Given the description of an element on the screen output the (x, y) to click on. 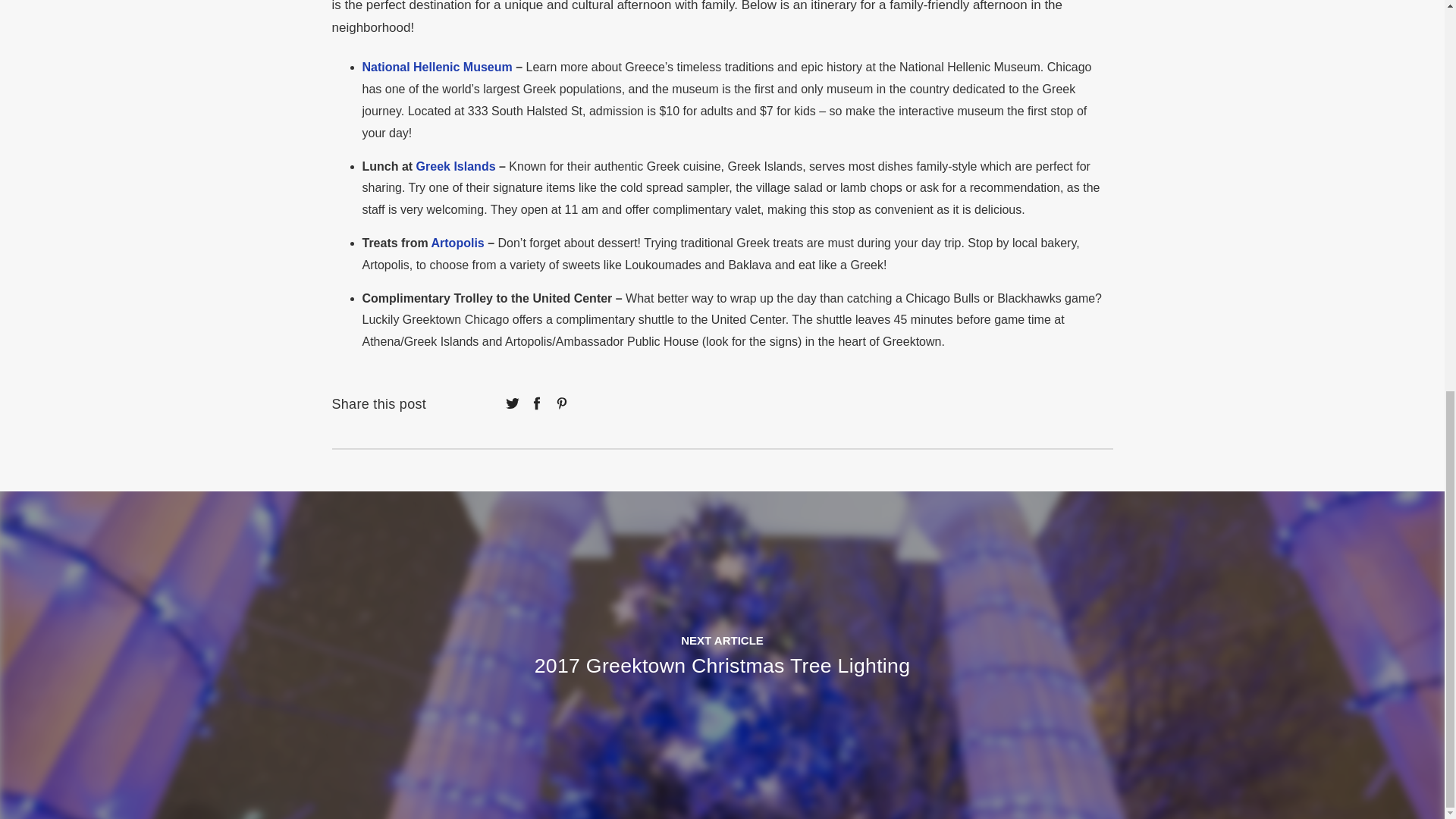
Greek Islands (456, 165)
Artopolis (456, 242)
National Hellenic Museum (437, 66)
